Given the description of an element on the screen output the (x, y) to click on. 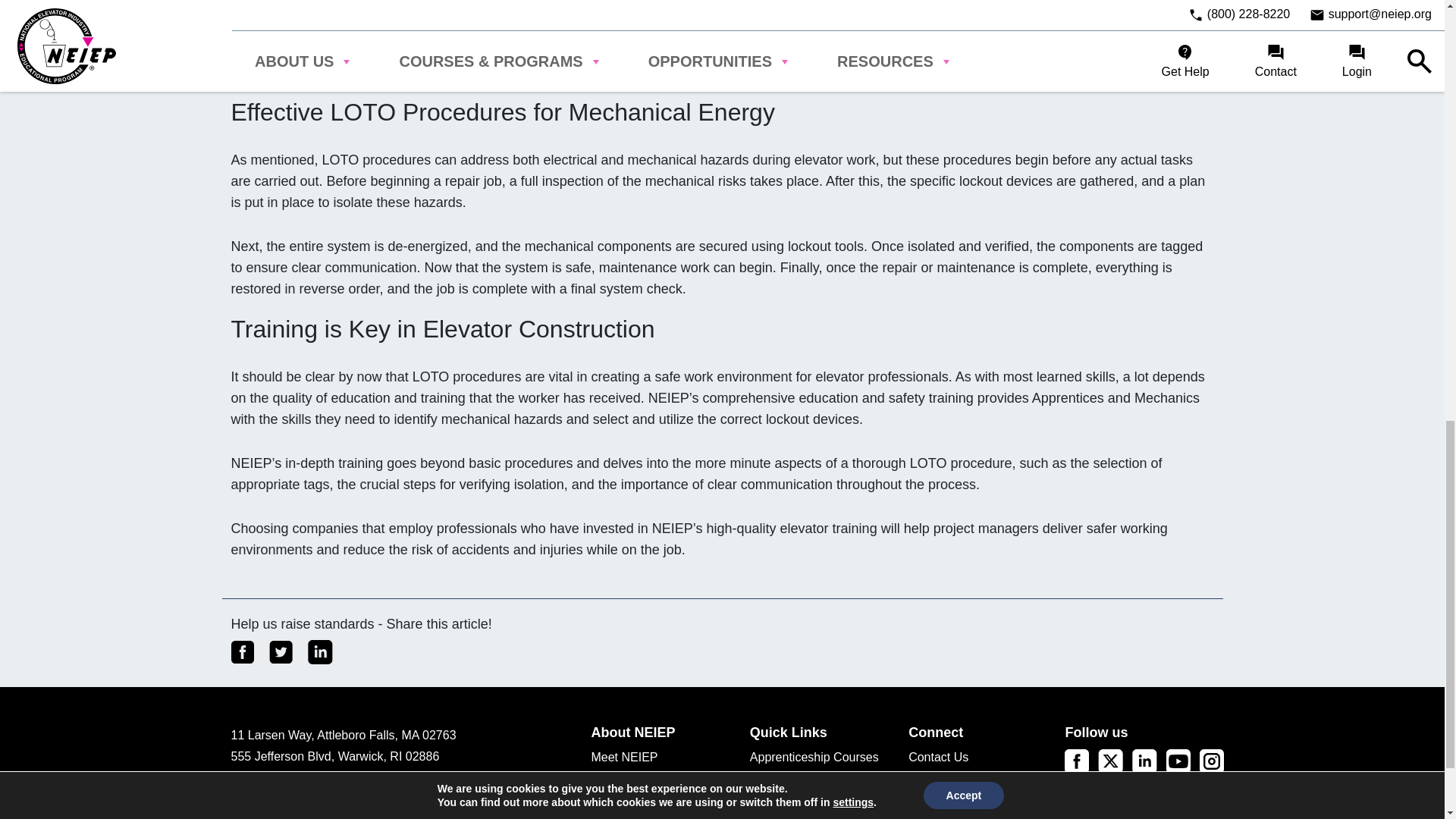
NEIEP's Twitter (1109, 760)
NEIEP's Facebook (1076, 760)
